Given the description of an element on the screen output the (x, y) to click on. 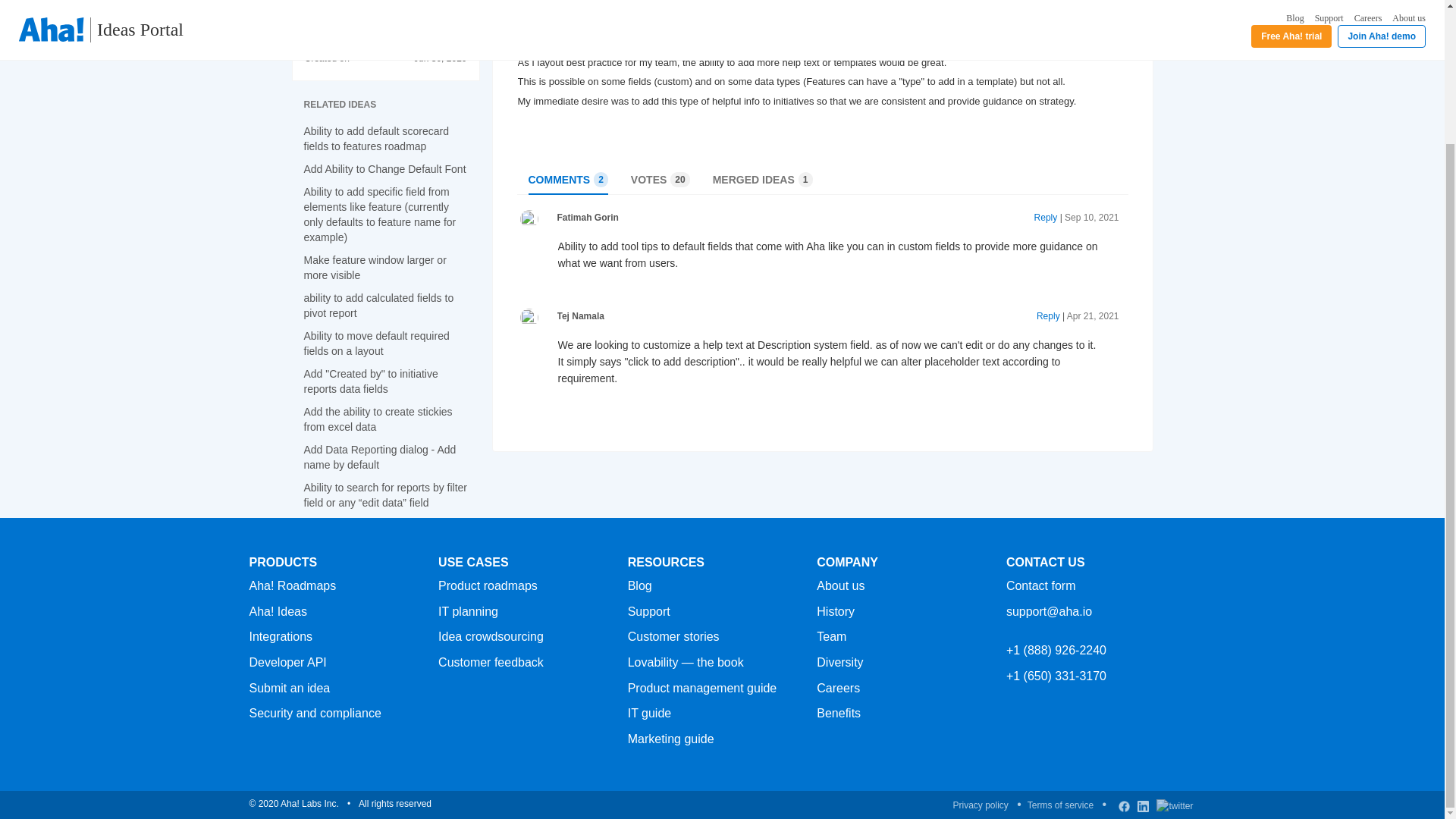
Ability to move default required fields on a layout (567, 179)
Add "Created by" to initiative reports data fields (375, 343)
Future consideration (370, 380)
Add Data Reporting dialog - Add name by default (373, 267)
ability to add calculated fields to pivot report (378, 456)
Add the ability to create stickies from excel data (377, 305)
Strategy (376, 419)
